Given the description of an element on the screen output the (x, y) to click on. 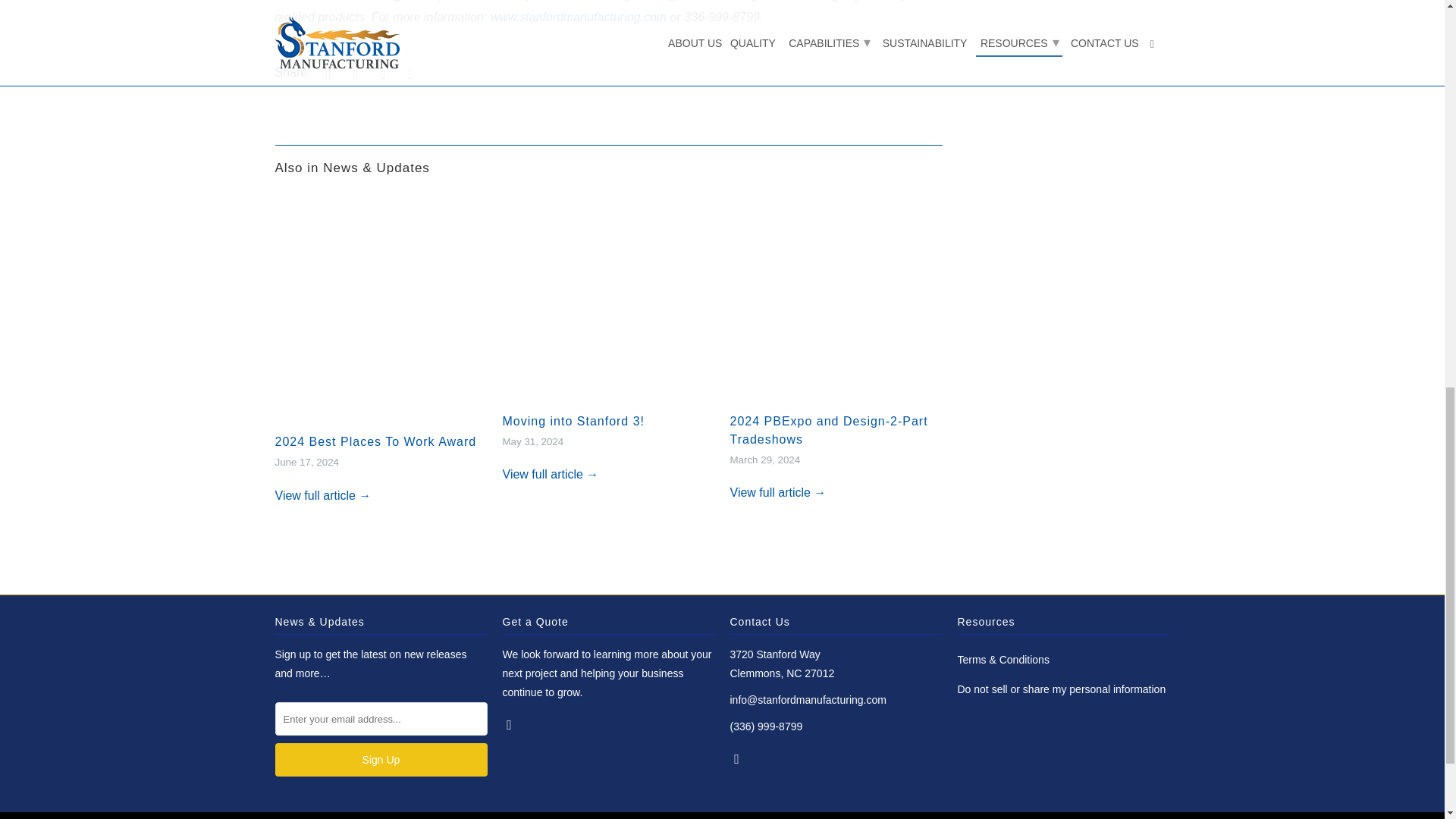
2024 PBExpo and Design-2-Part Tradeshows (777, 492)
2024 Best Places To Work Award (375, 440)
Sign Up (380, 759)
www.stanfordmanufacturing.com (578, 16)
2024 Best Places To Work Award (323, 495)
Moving into Stanford 3! (573, 420)
Moving into Stanford 3! (573, 420)
Stanford Manufacturing on LinkedIn (510, 724)
Share this on Twitter (325, 73)
Share this on Facebook (352, 73)
